Given the description of an element on the screen output the (x, y) to click on. 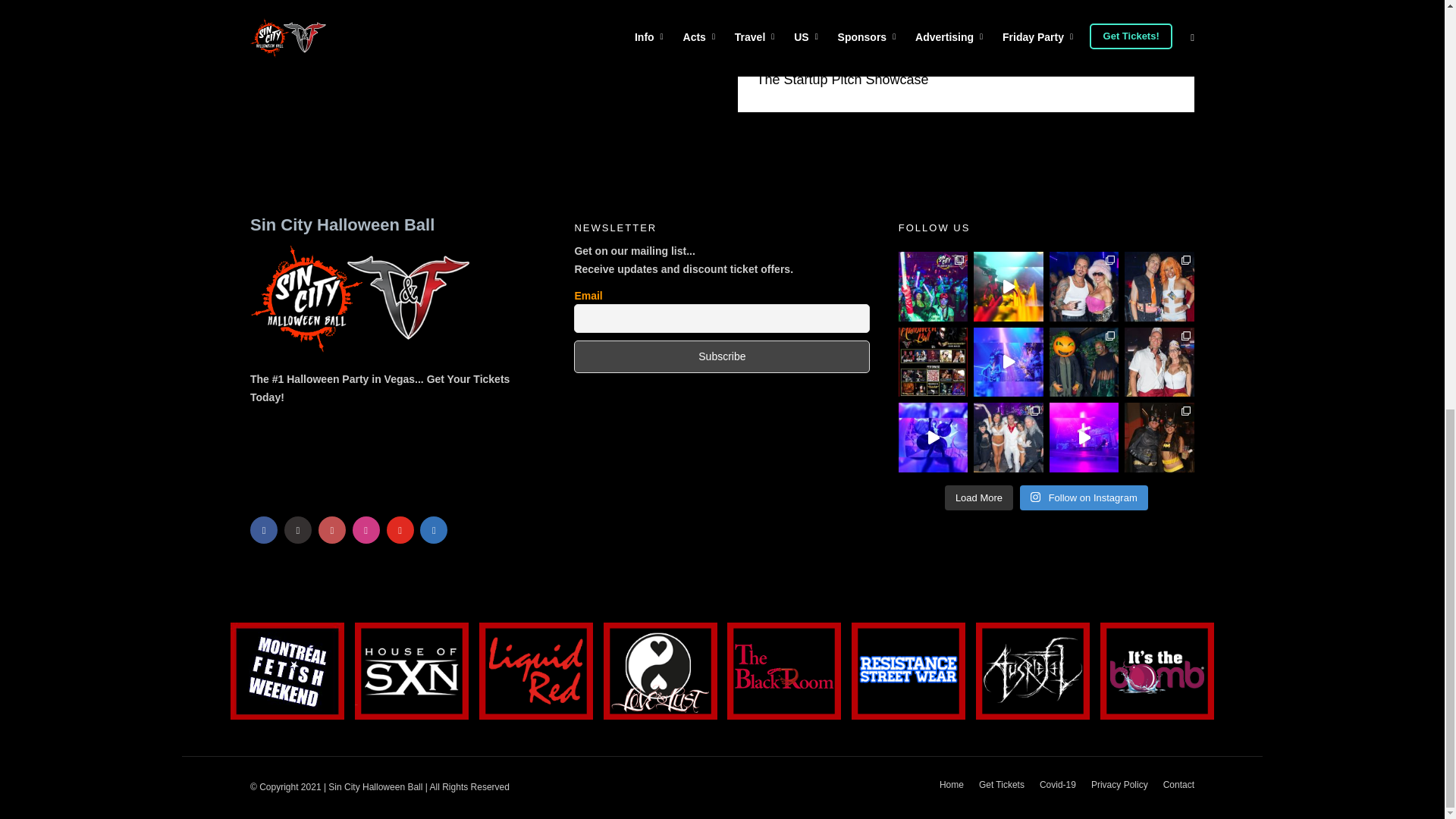
YouTube (400, 529)
Subscribe (721, 356)
Instagram (332, 529)
Linkedin (433, 529)
TikTok (366, 529)
Facebook (264, 529)
